Given the description of an element on the screen output the (x, y) to click on. 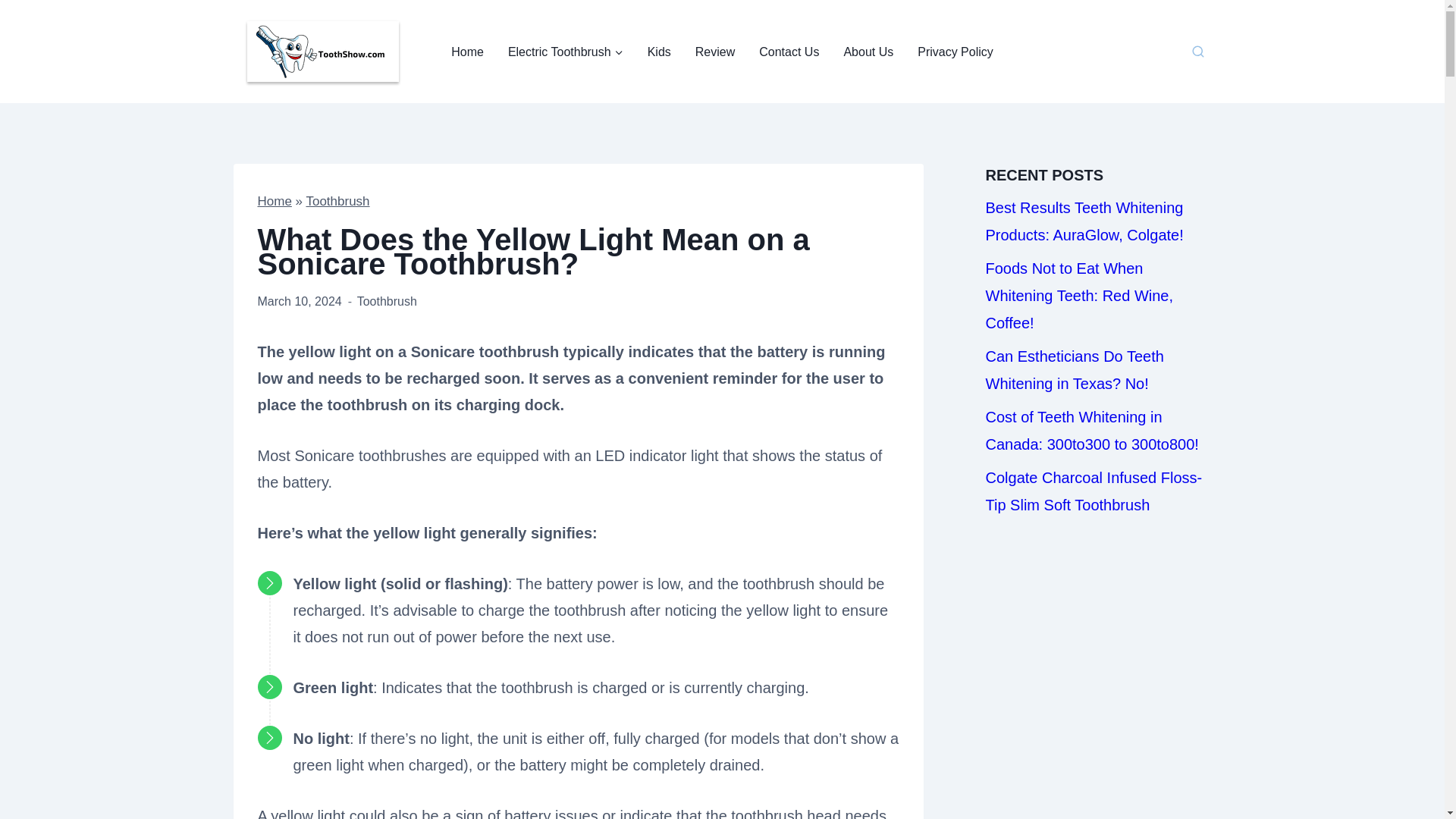
Review (714, 51)
Electric Toothbrush (565, 51)
Toothbrush (337, 201)
Home (274, 201)
Home (467, 51)
Contact Us (788, 51)
Toothbrush (386, 300)
About Us (868, 51)
Privacy Policy (955, 51)
Kids (658, 51)
